Given the description of an element on the screen output the (x, y) to click on. 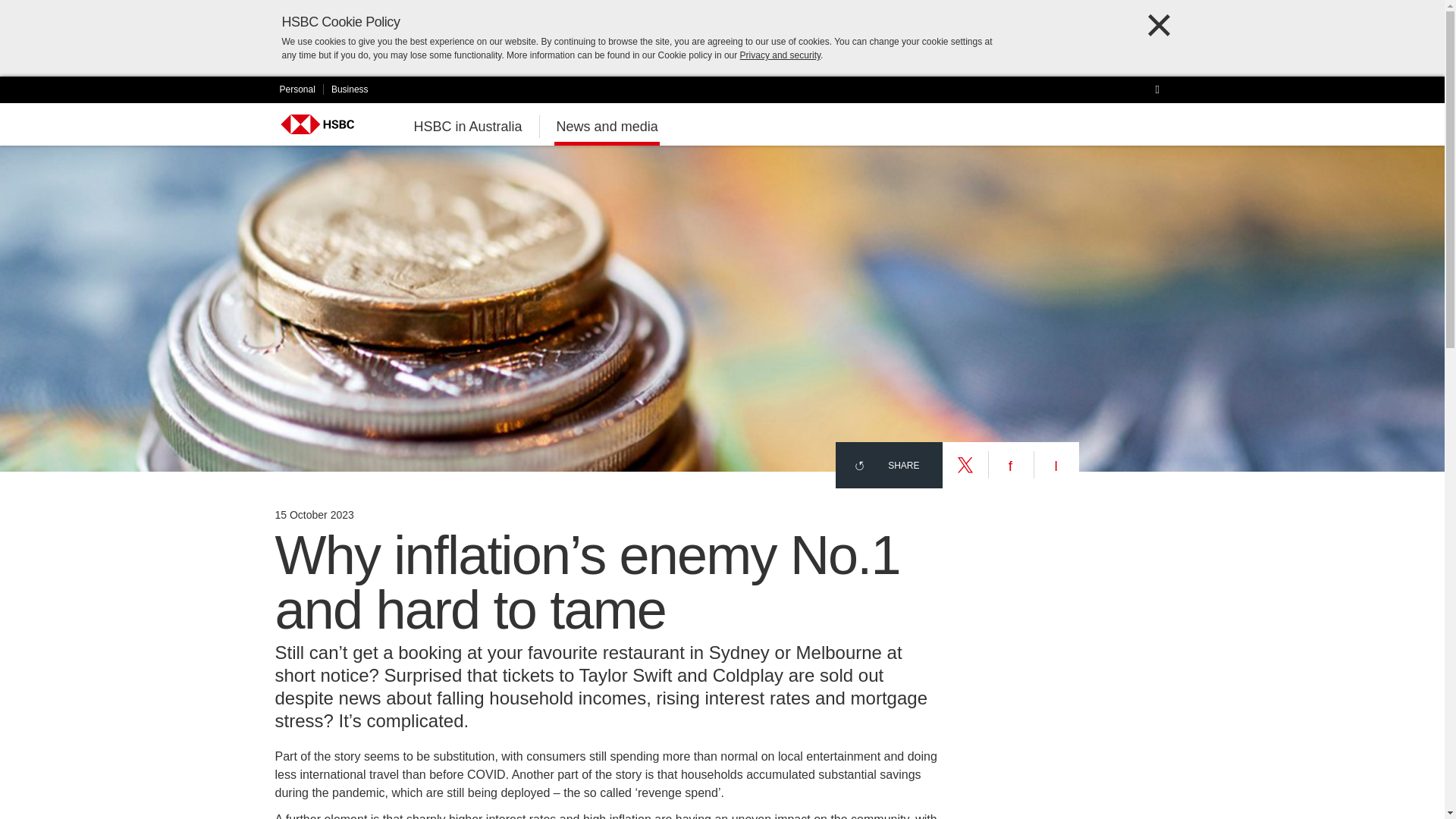
Privacy and security (780, 54)
Search (1161, 88)
